Given the description of an element on the screen output the (x, y) to click on. 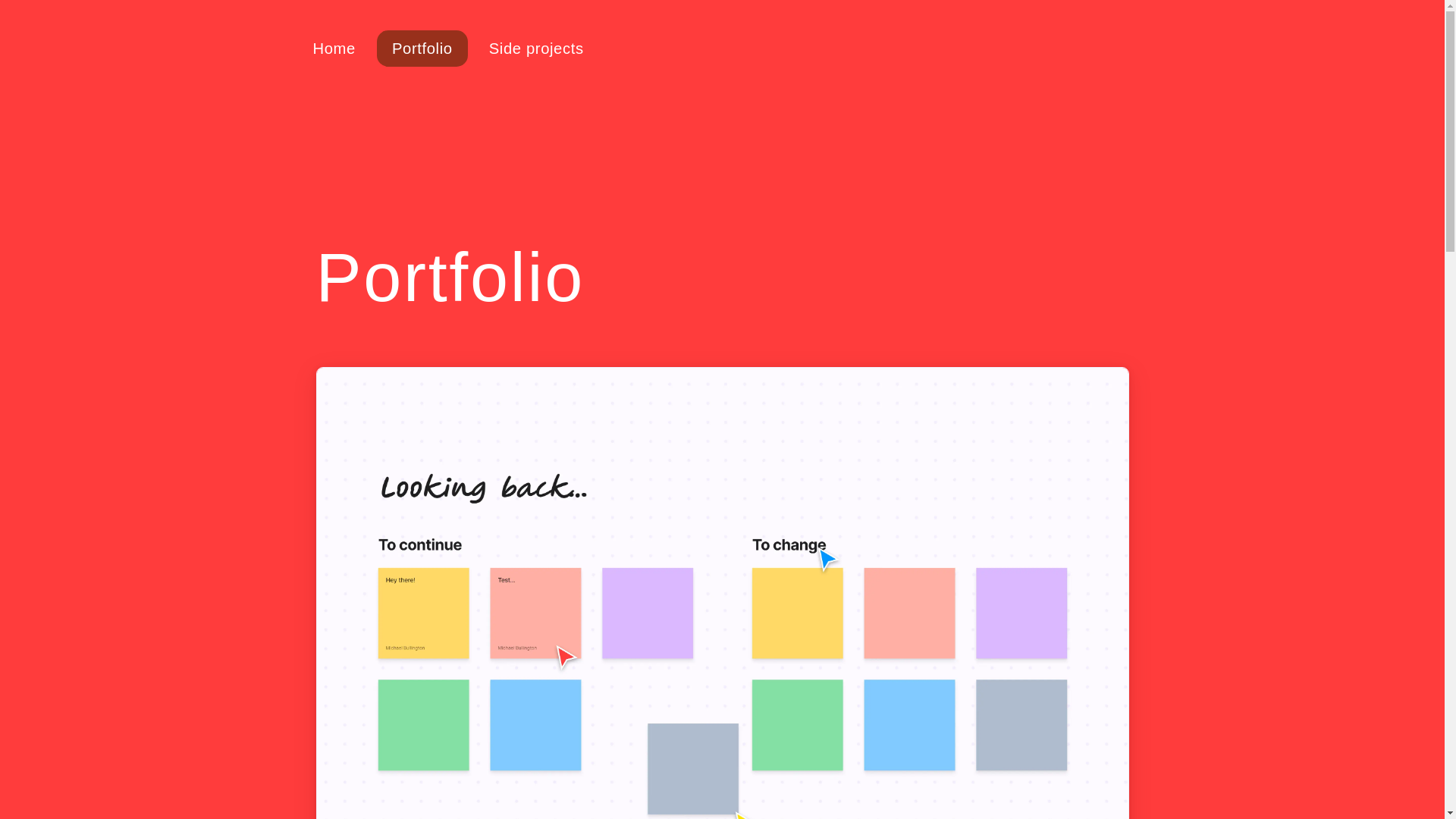
Side projects (536, 48)
Home (333, 48)
Portfolio (422, 48)
